Given the description of an element on the screen output the (x, y) to click on. 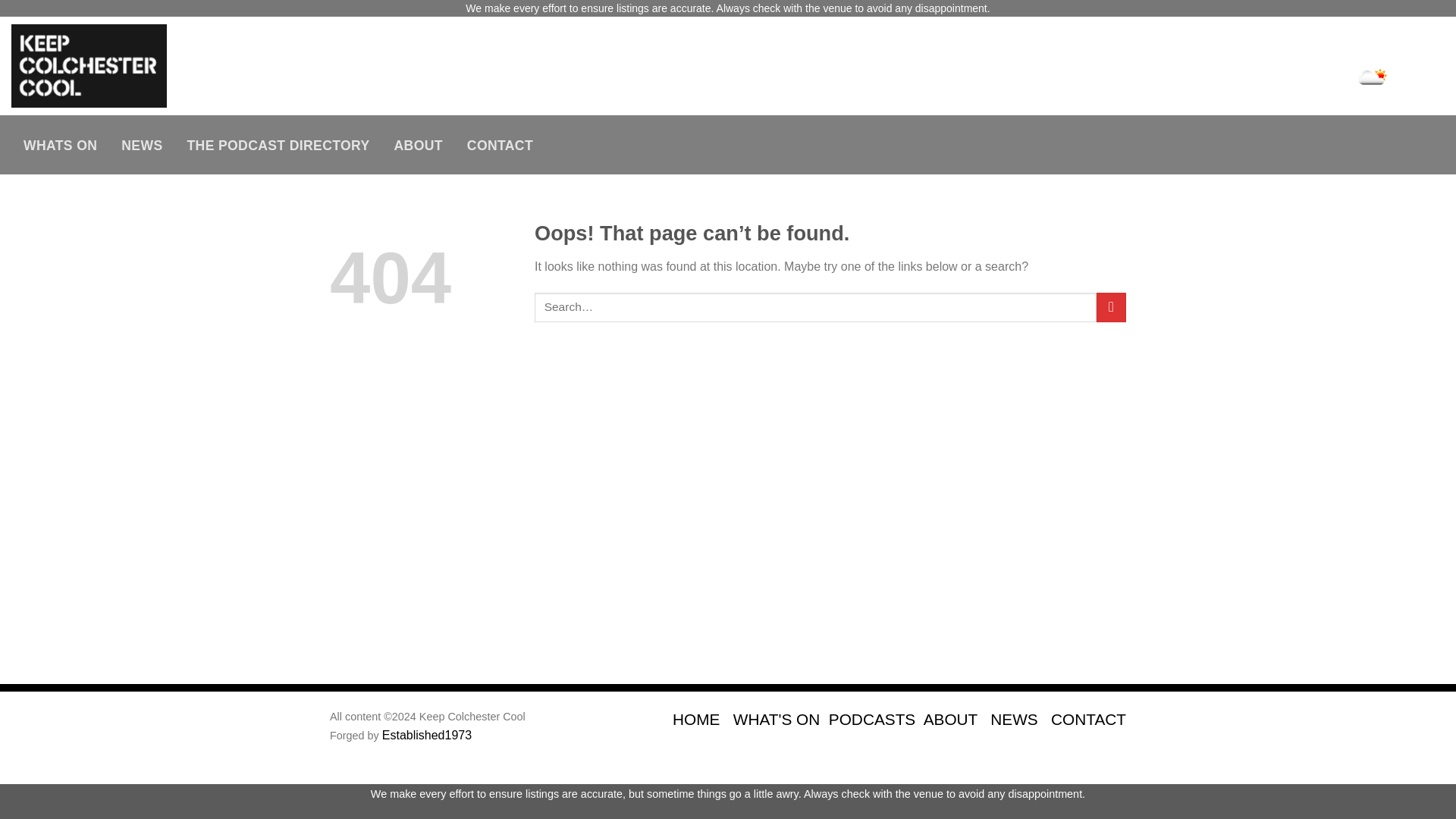
ABOUT (417, 144)
PODCASTS (871, 719)
CONTACT (499, 144)
Follow on Instagram (1366, 47)
ABOUT (949, 719)
NEWS (1013, 719)
NEWS (141, 144)
Established1973 (426, 735)
WHAT'S ON (777, 719)
Send us an email (1419, 47)
Follow on Facebook (1338, 47)
Todays Weather (1362, 77)
WHATS ON (60, 144)
CONTACT (1088, 719)
